Given the description of an element on the screen output the (x, y) to click on. 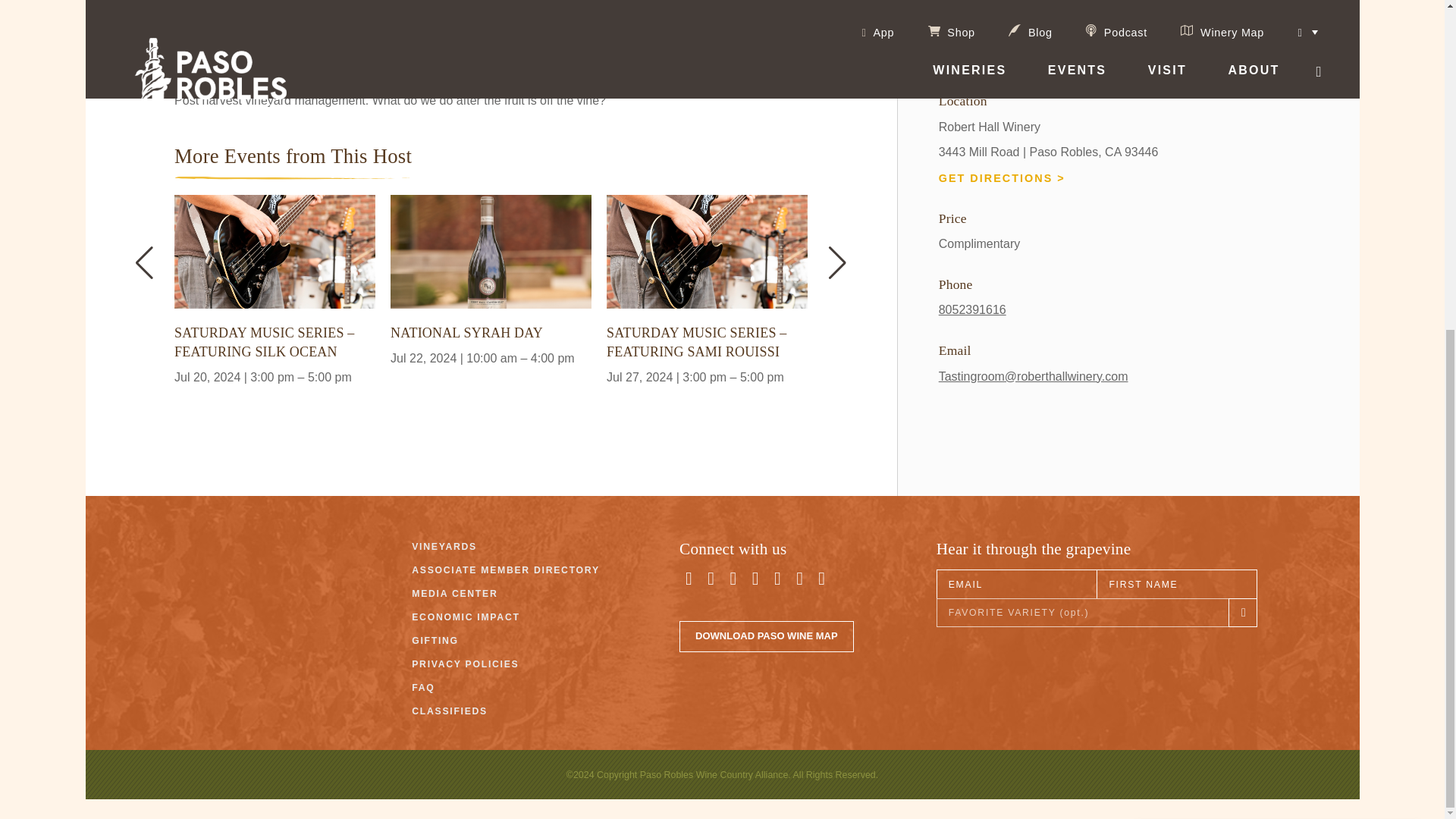
Submit (1189, 490)
